Given the description of an element on the screen output the (x, y) to click on. 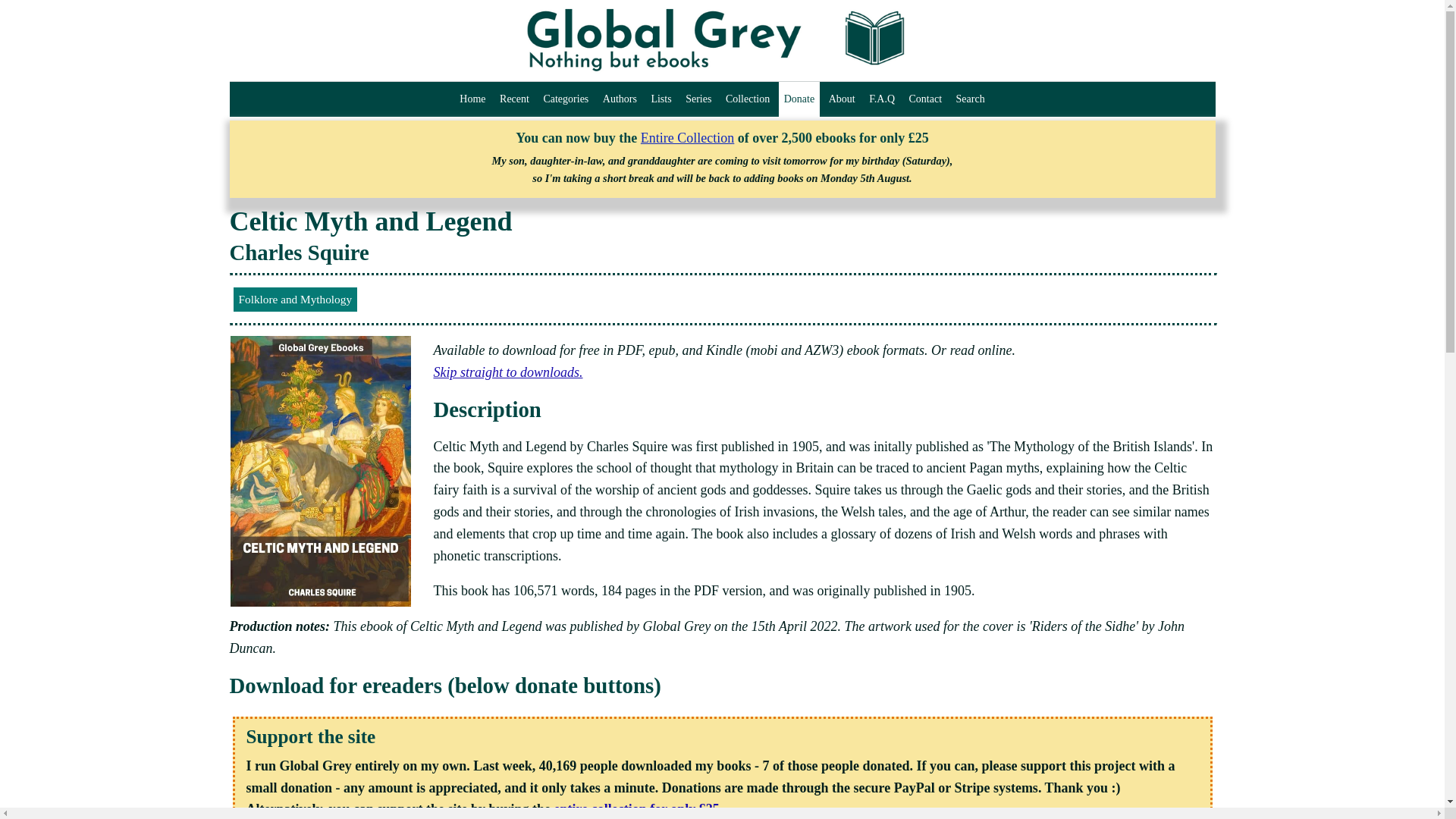
Donate (798, 99)
Collection (747, 99)
Series (697, 99)
Home (472, 99)
Lists (661, 99)
Collection (747, 99)
Donate (798, 99)
Skip straight to downloads. (508, 372)
Categories (565, 99)
Entire Collection (686, 137)
Folklore and Mythology (294, 298)
Home (472, 99)
Contact (925, 99)
Contact (925, 99)
About (842, 99)
